Given the description of an element on the screen output the (x, y) to click on. 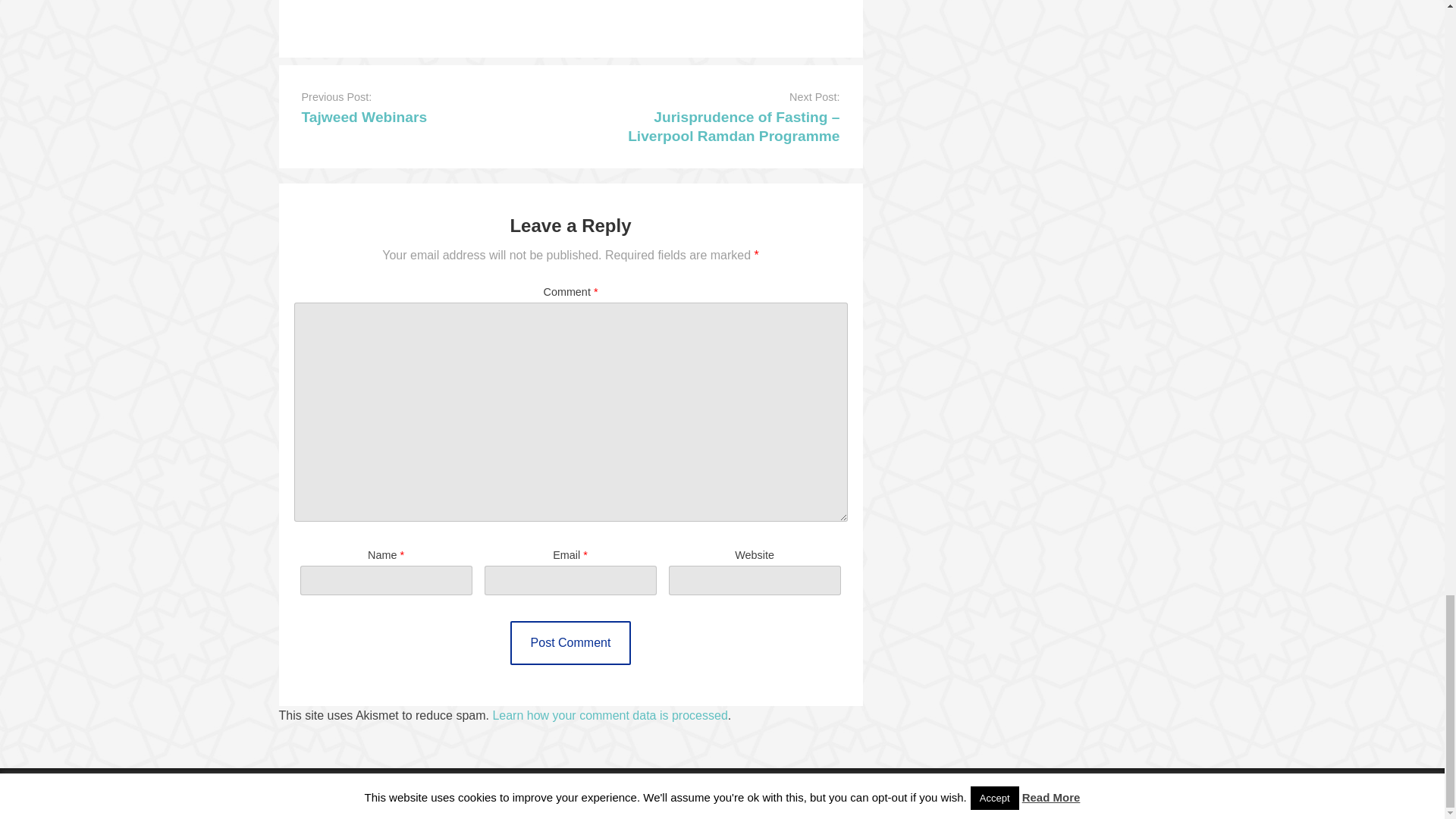
Tajweed Webinars (364, 116)
Post Comment (571, 642)
Learn how your comment data is processed (609, 715)
Post Comment (571, 642)
